Given the description of an element on the screen output the (x, y) to click on. 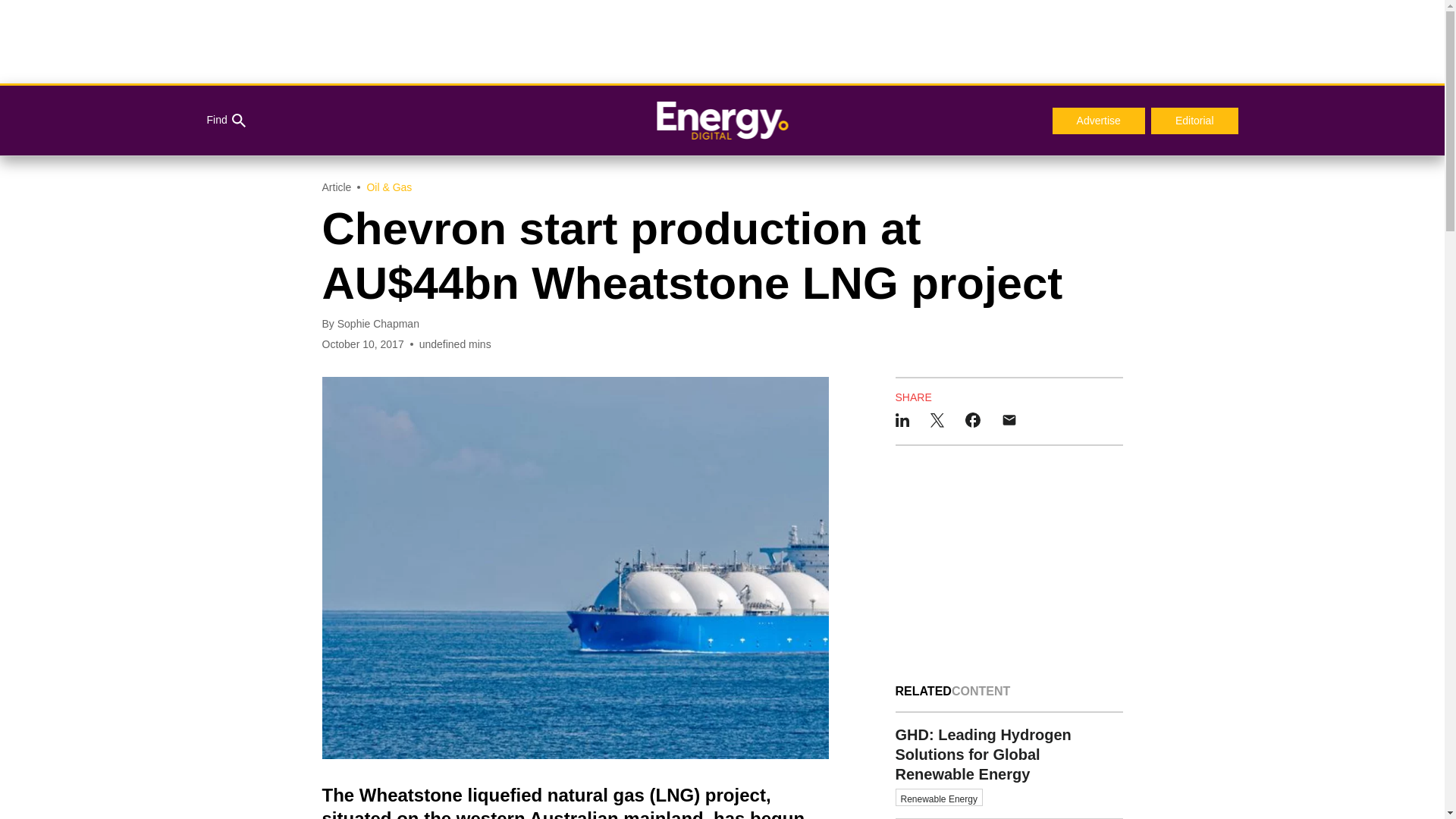
Editorial (1195, 121)
Advertise (1098, 121)
Find (225, 120)
